Given the description of an element on the screen output the (x, y) to click on. 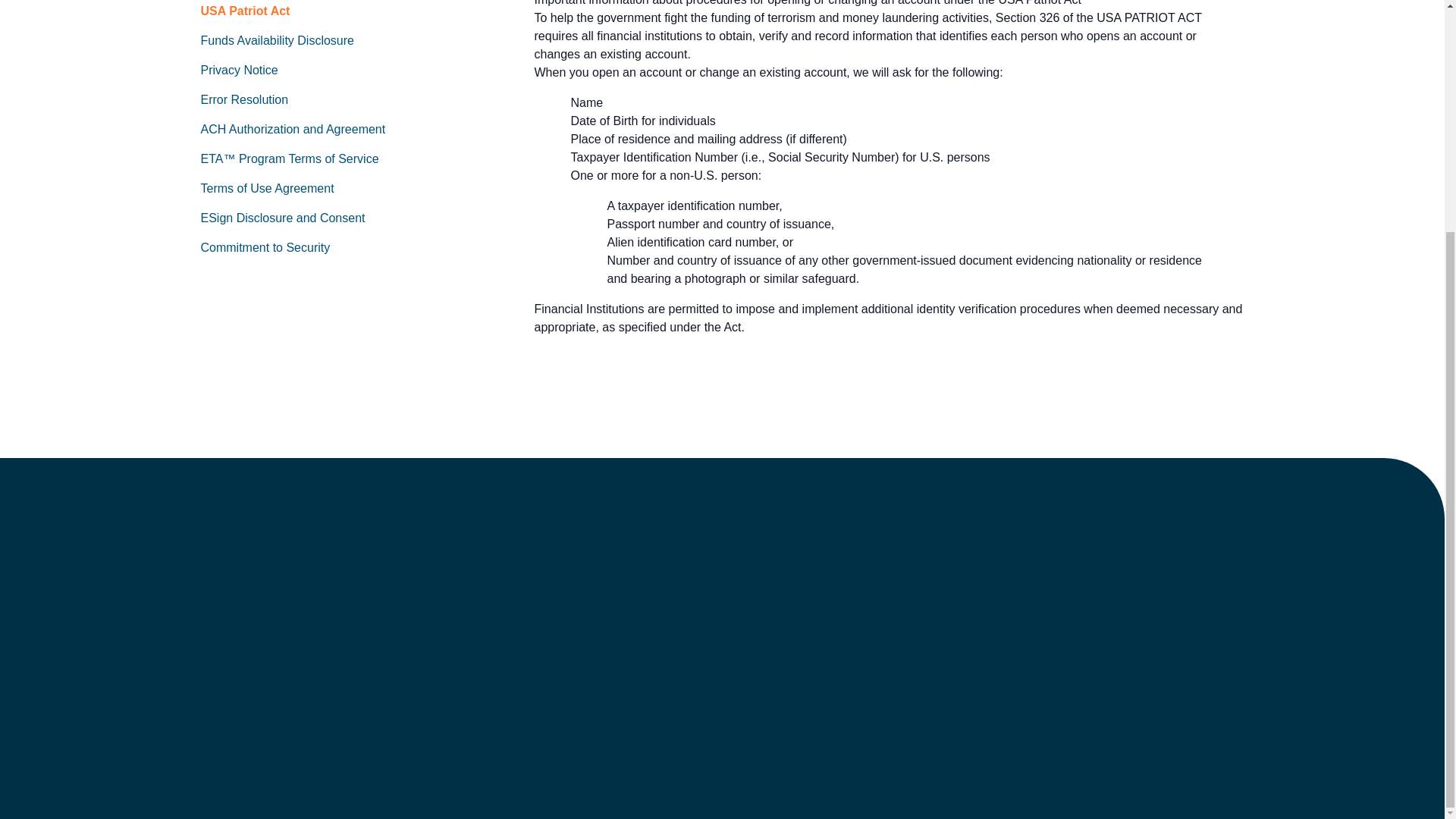
Terms of Use Agreement (266, 187)
Commitment to Security (265, 246)
ACH Authorization and Agreement (292, 128)
Error Resolution (244, 99)
Privacy Notice (239, 69)
ESign Disclosure and Consent (282, 217)
Funds Availability Disclosure (276, 40)
USA Patriot Act (244, 10)
